Given the description of an element on the screen output the (x, y) to click on. 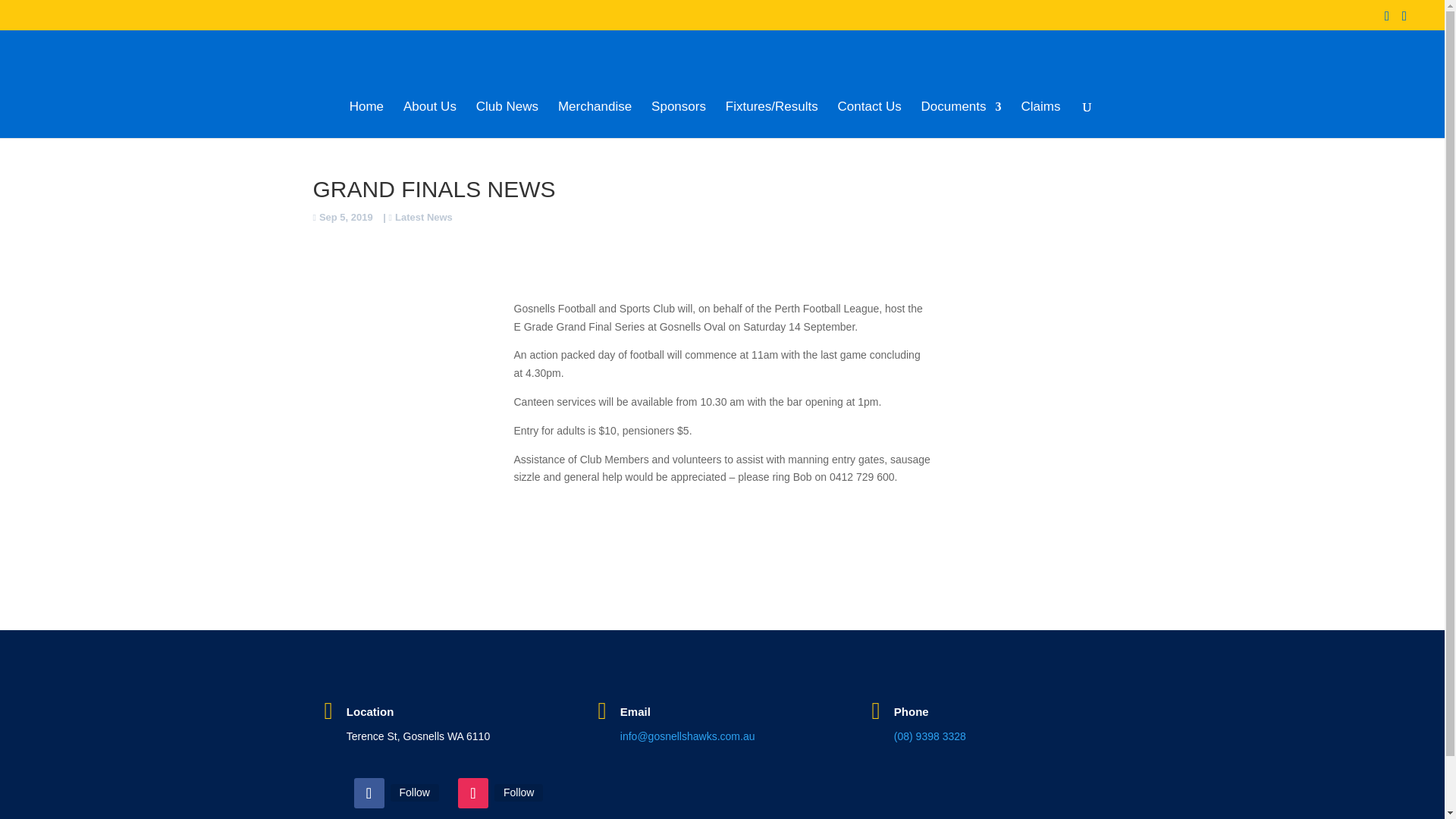
Merchandise (594, 119)
Latest News (420, 216)
Follow on Facebook (368, 793)
Club News (507, 119)
Instagram (519, 791)
Contact Us (869, 119)
Documents (961, 119)
Claims (1039, 119)
Follow (414, 791)
About Us (430, 119)
